Given the description of an element on the screen output the (x, y) to click on. 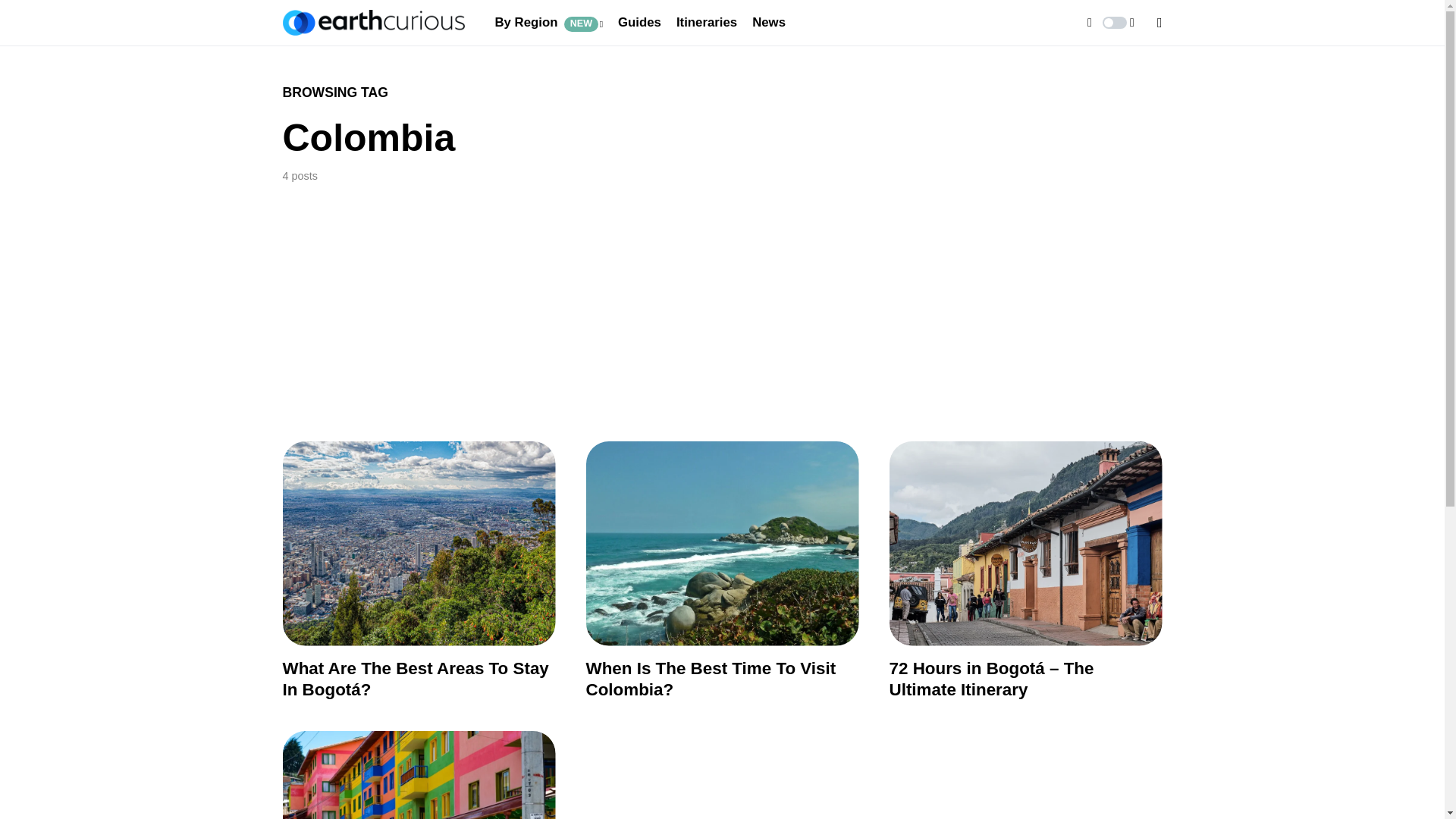
Itineraries (706, 22)
By Region NEW (548, 22)
Guides (639, 22)
